Given the description of an element on the screen output the (x, y) to click on. 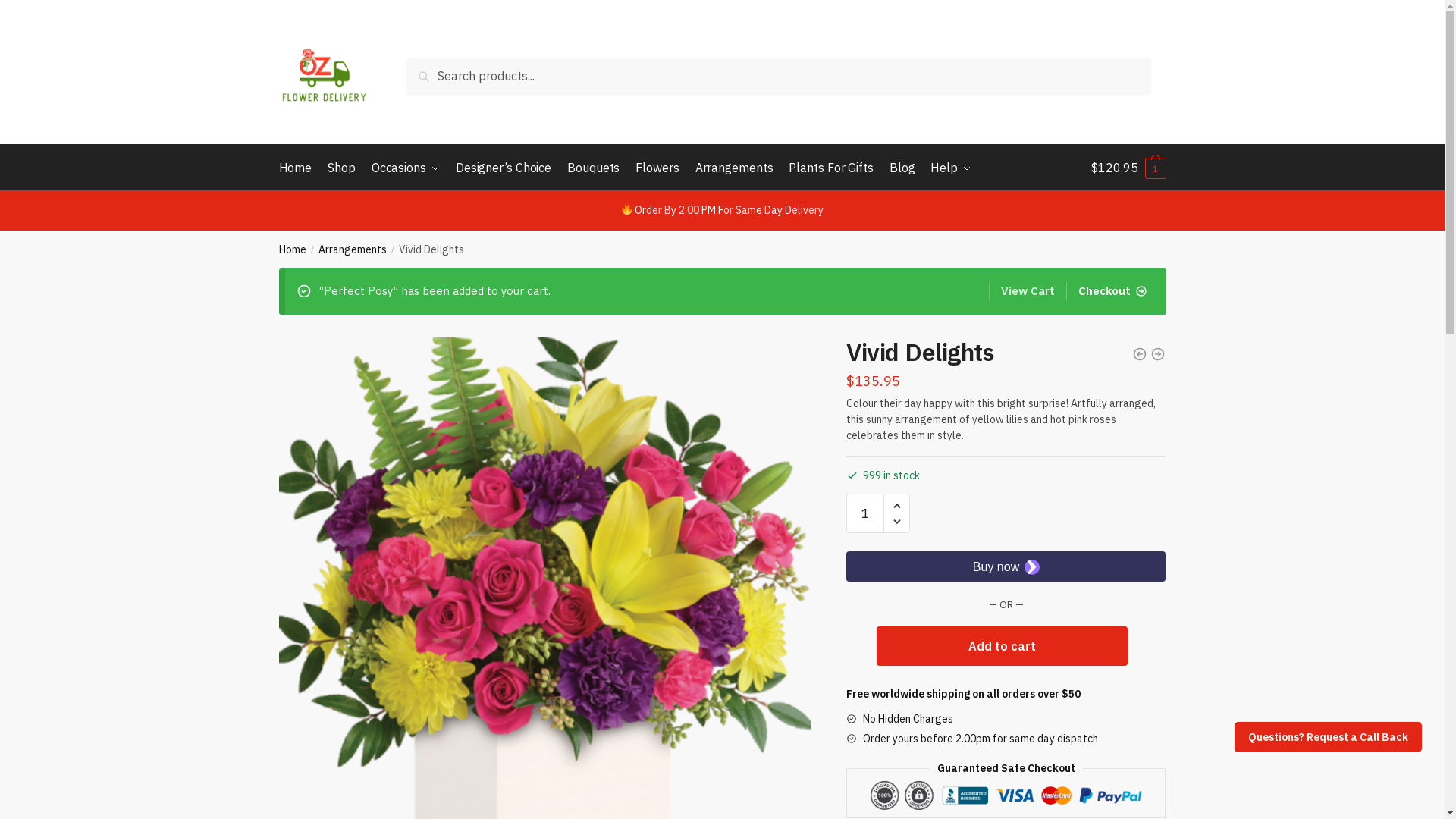
Add to cart Element type: text (1001, 645)
Plants For Gifts Element type: text (830, 167)
Submit Element type: text (532, 546)
Flowers Element type: text (656, 167)
Help Element type: text (950, 167)
Questions? Request a Call Back Element type: text (1327, 736)
Arrangements Element type: text (734, 167)
$120.95 1 Element type: text (1128, 167)
Bouquets Element type: text (593, 167)
Secure payment button frame Element type: hover (1005, 566)
Blog Element type: text (902, 167)
Checkout Element type: text (1106, 291)
View Cart Element type: text (1021, 291)
Shop Element type: text (341, 167)
Home Element type: text (298, 167)
Home Element type: text (292, 249)
Search Element type: text (442, 74)
Arrangements Element type: text (352, 249)
Occasions Element type: text (405, 167)
